Given the description of an element on the screen output the (x, y) to click on. 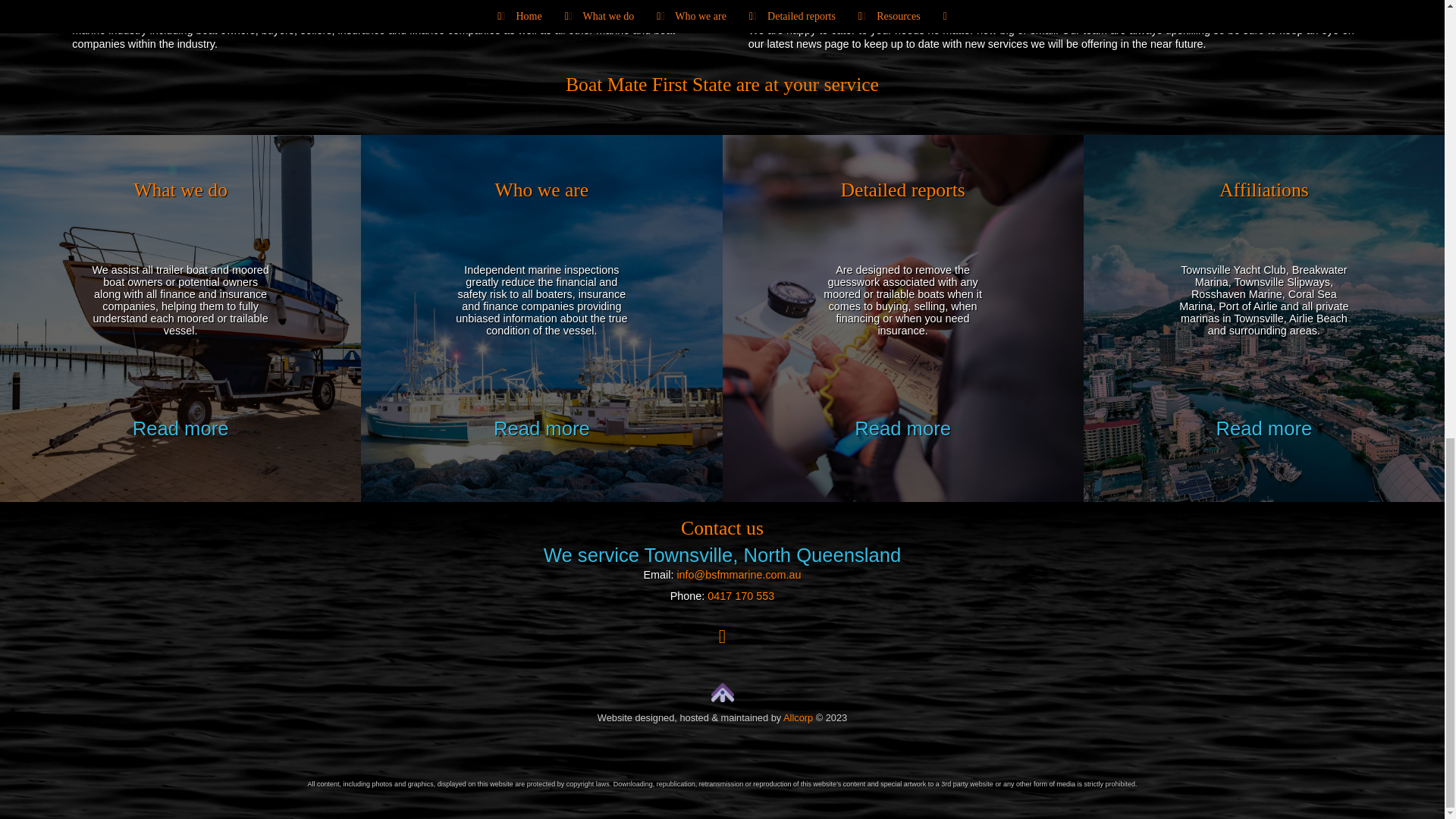
Read more (1264, 427)
Read more (541, 427)
Read more (180, 427)
0417 170 553 (740, 595)
Read more (902, 427)
Allcorp (797, 717)
